Given the description of an element on the screen output the (x, y) to click on. 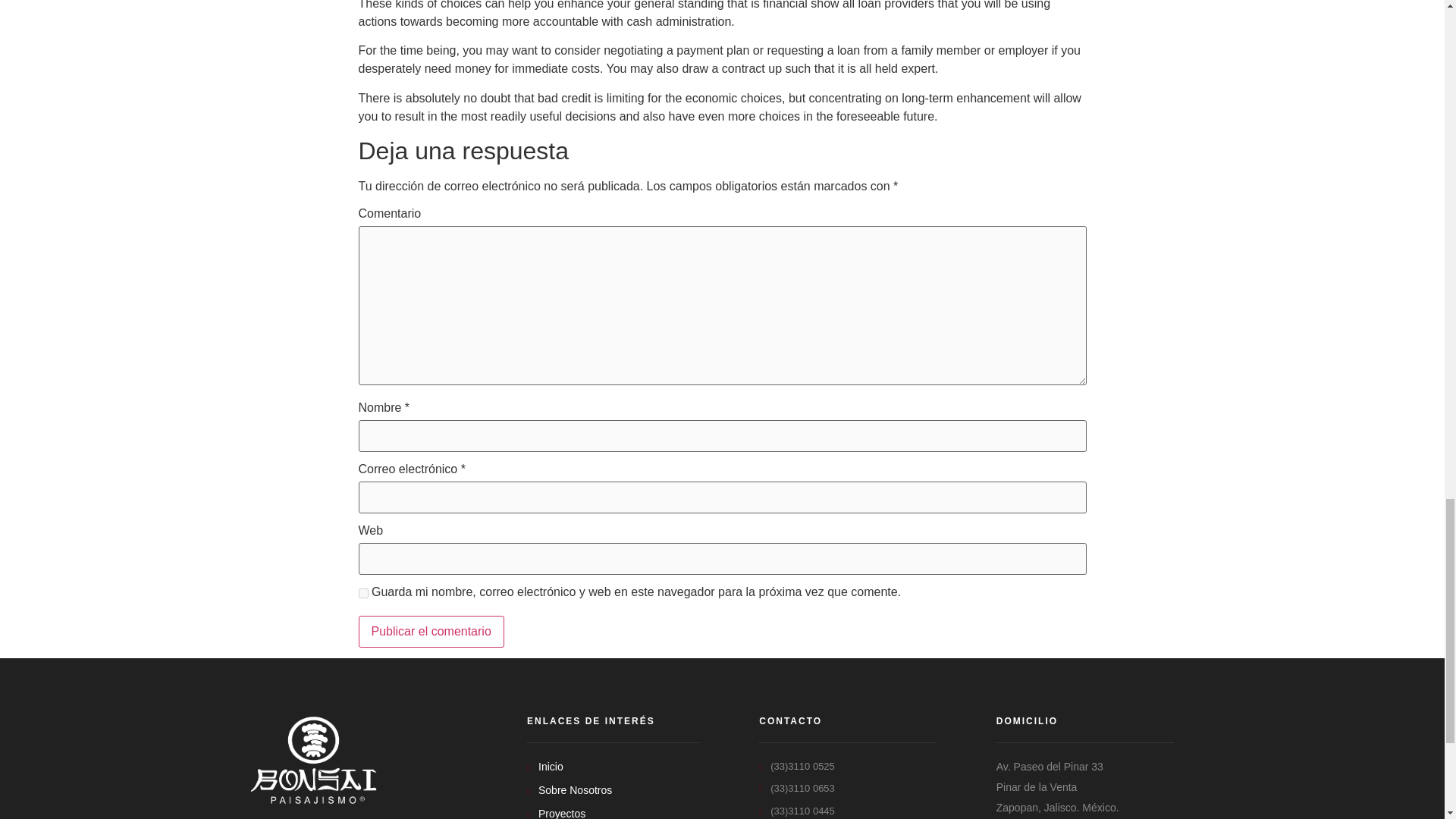
yes (363, 593)
Proyectos (613, 812)
Publicar el comentario (430, 631)
Sobre Nosotros (613, 790)
Inicio (613, 766)
Publicar el comentario (430, 631)
